Given the description of an element on the screen output the (x, y) to click on. 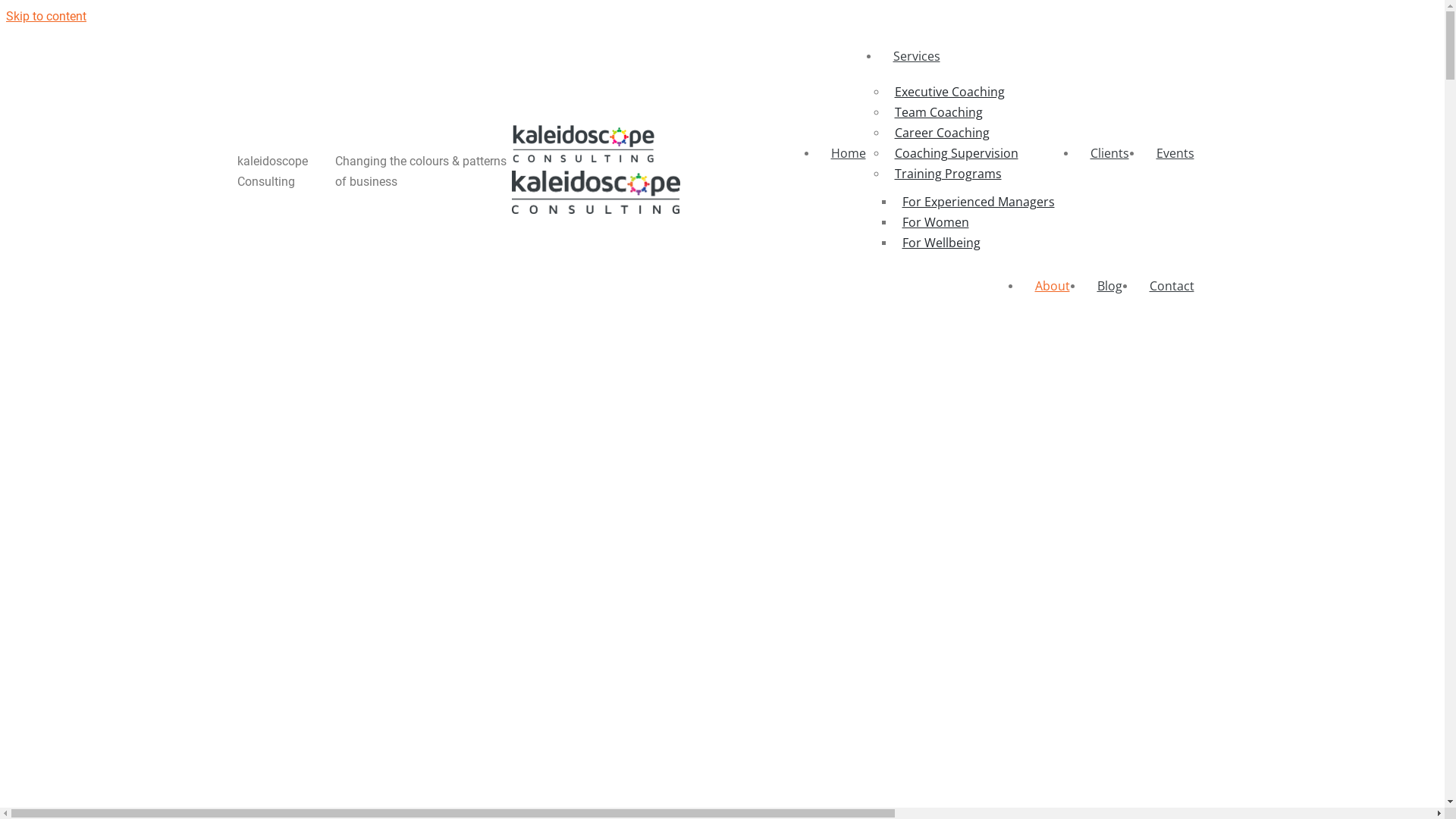
For Wellbeing Element type: text (941, 242)
For Experienced Managers Element type: text (978, 201)
Coaching Supervision Element type: text (956, 153)
Skip to content Element type: text (722, 16)
Events Element type: text (1174, 153)
Clients Element type: text (1109, 153)
Services Element type: text (977, 56)
Blog Element type: text (1108, 286)
Career Coaching Element type: text (942, 132)
Home Element type: text (848, 153)
About Element type: text (1051, 286)
Contact Element type: text (1171, 286)
For Women Element type: text (935, 222)
Team Coaching Element type: text (938, 112)
Executive Coaching Element type: text (949, 91)
Training Programs Element type: text (948, 173)
